Given the description of an element on the screen output the (x, y) to click on. 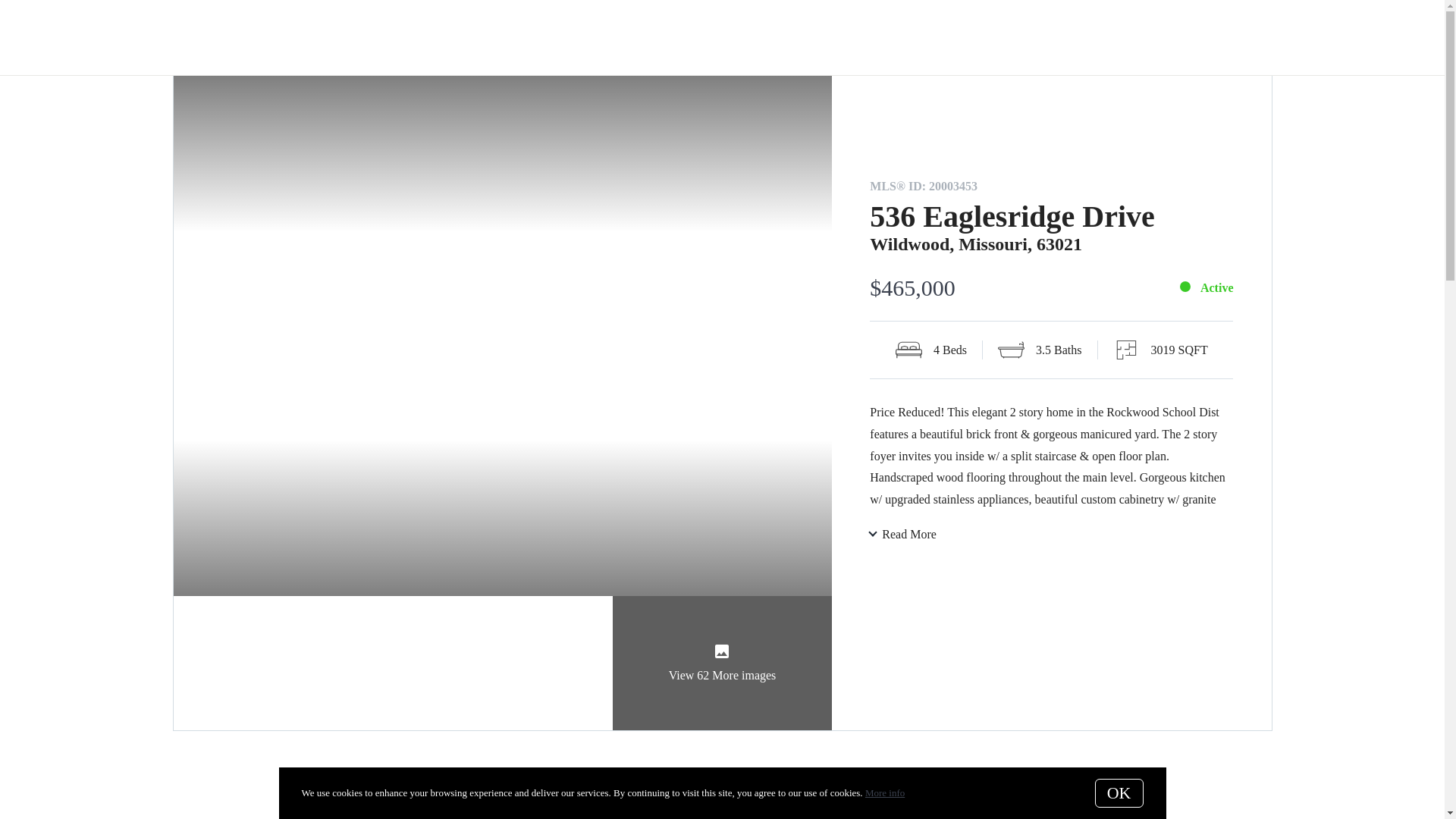
View 62 More images (722, 663)
